Given the description of an element on the screen output the (x, y) to click on. 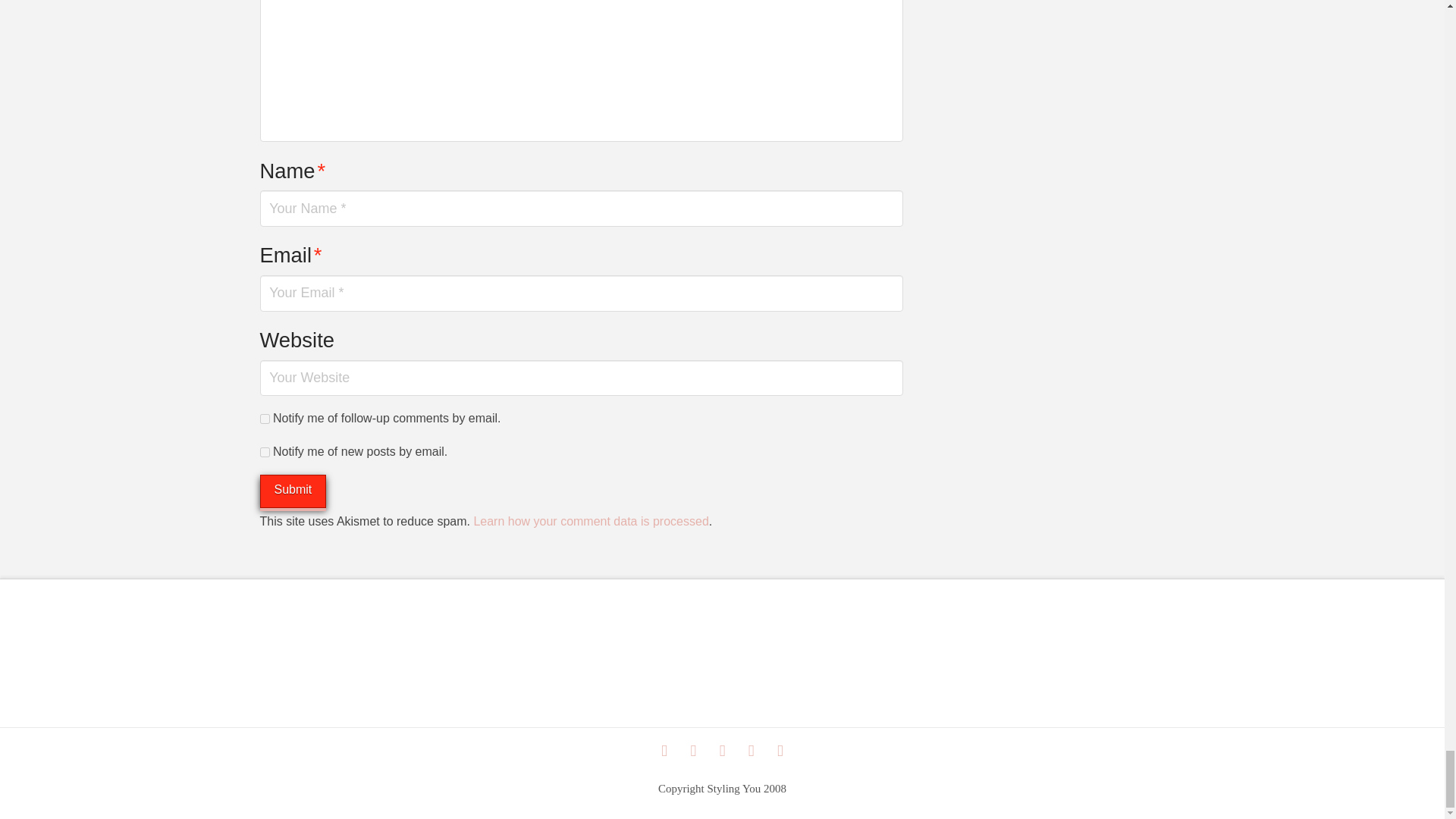
subscribe (264, 452)
Instagram (722, 750)
Submit (292, 491)
Pinterest (751, 750)
Facebook (663, 750)
RSS (780, 750)
LinkedIn (692, 750)
subscribe (264, 419)
